Given the description of an element on the screen output the (x, y) to click on. 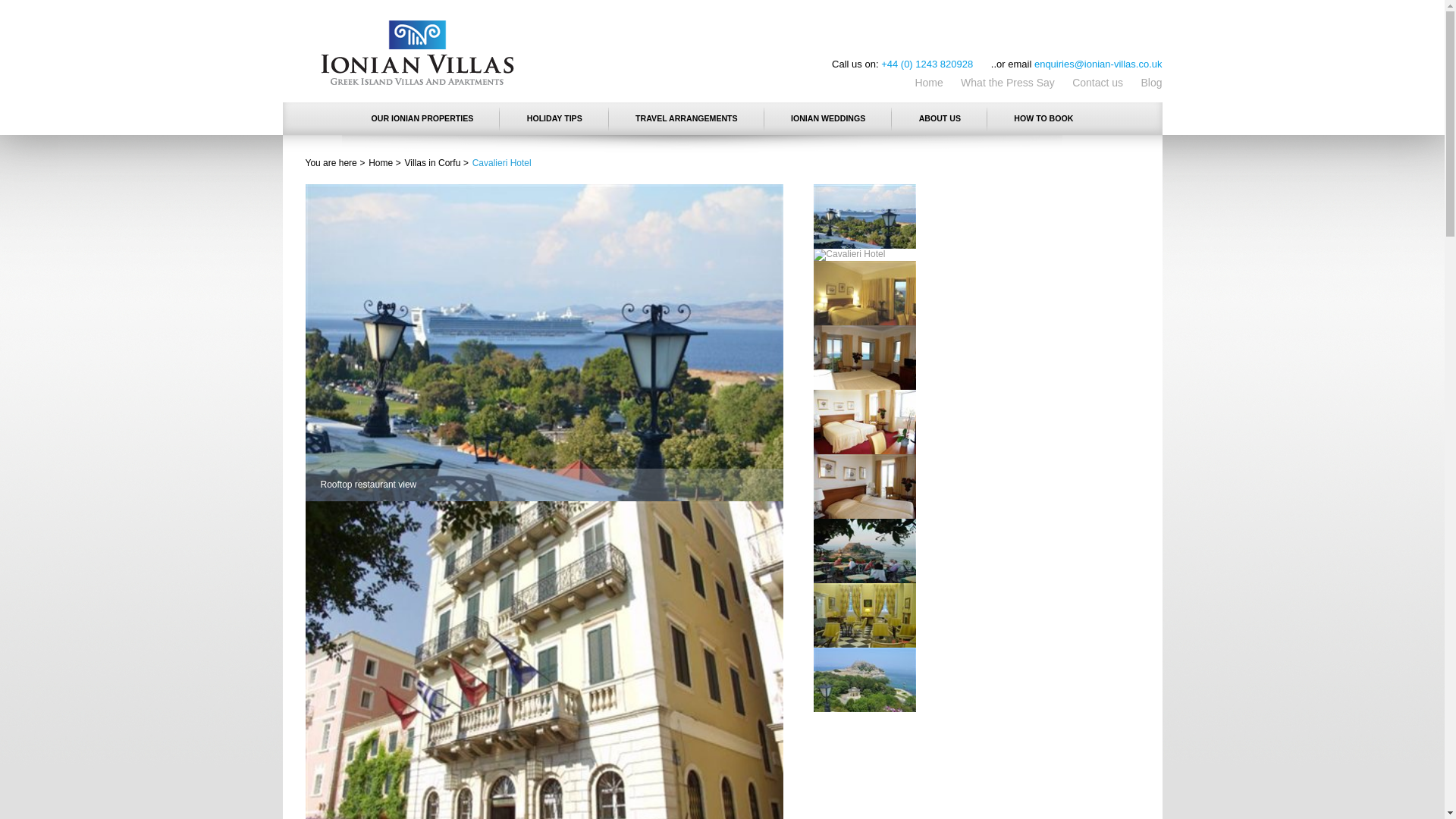
Home (928, 82)
Blog (1150, 82)
What the Press Say (1007, 82)
Holiday Tips (554, 117)
Travel Arrangemets (686, 117)
HOW TO BOOK (1043, 117)
What the Press Say (1007, 82)
OUR IONIAN PROPERTIES (422, 117)
Contact us (1096, 82)
ABOUT US (939, 117)
How to Book (1043, 117)
Contact us (1096, 82)
Ionian Villas - Greek Island Properties (416, 52)
IONIAN WEDDINGS (827, 117)
HOLIDAY TIPS (554, 117)
